Given the description of an element on the screen output the (x, y) to click on. 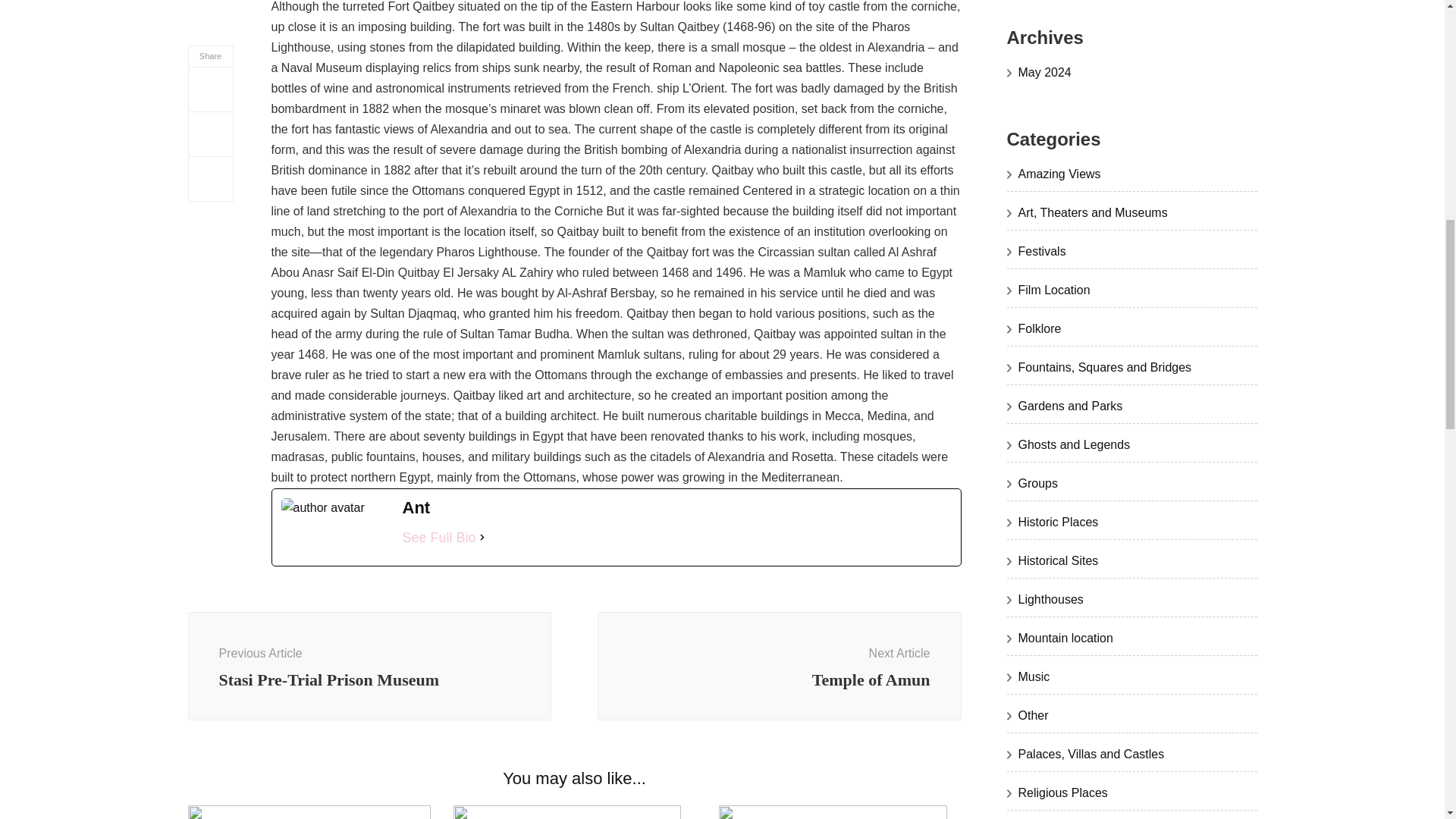
See Full Bio (438, 537)
